Given the description of an element on the screen output the (x, y) to click on. 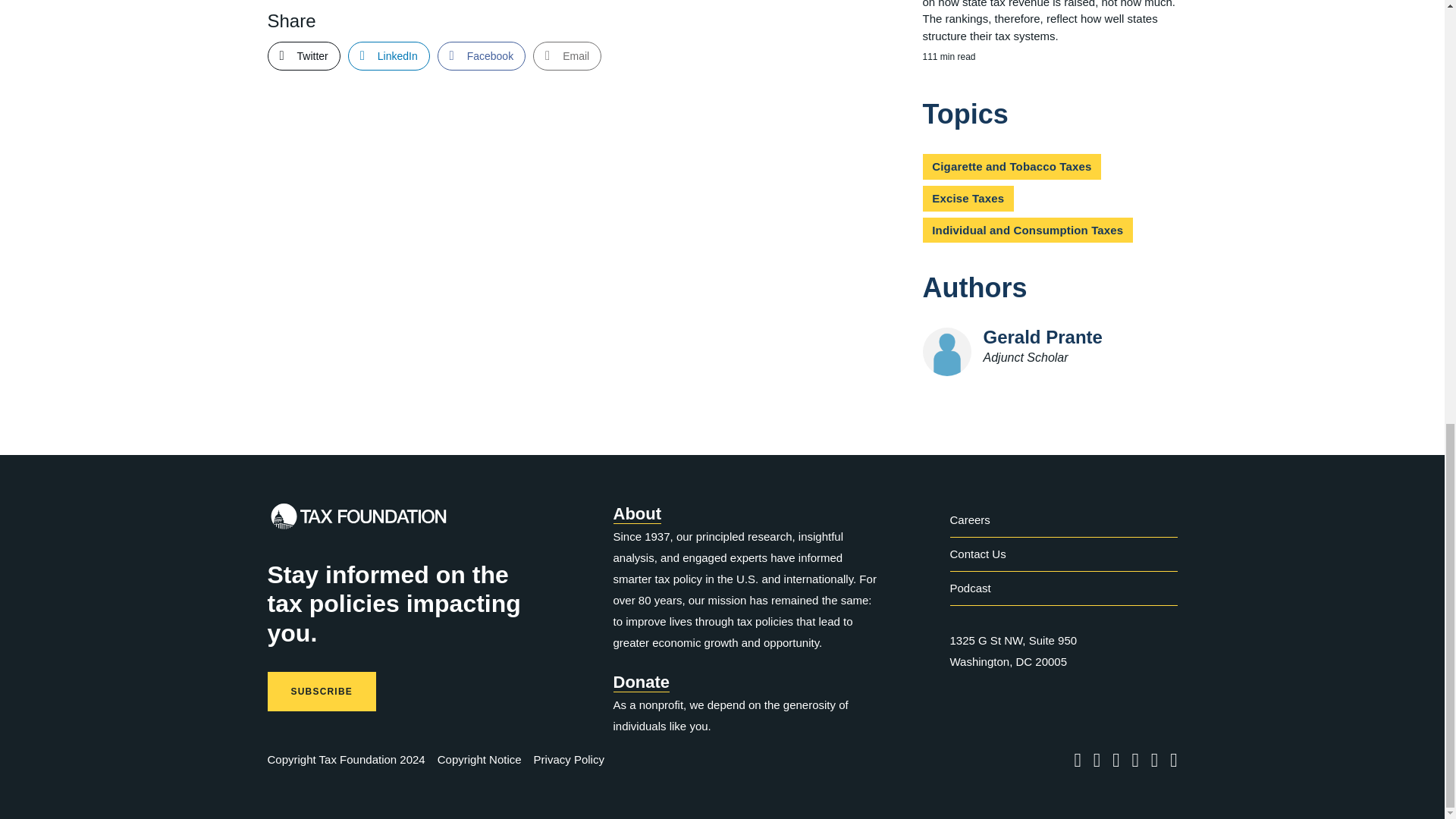
Tax Foundation (357, 519)
